Given the description of an element on the screen output the (x, y) to click on. 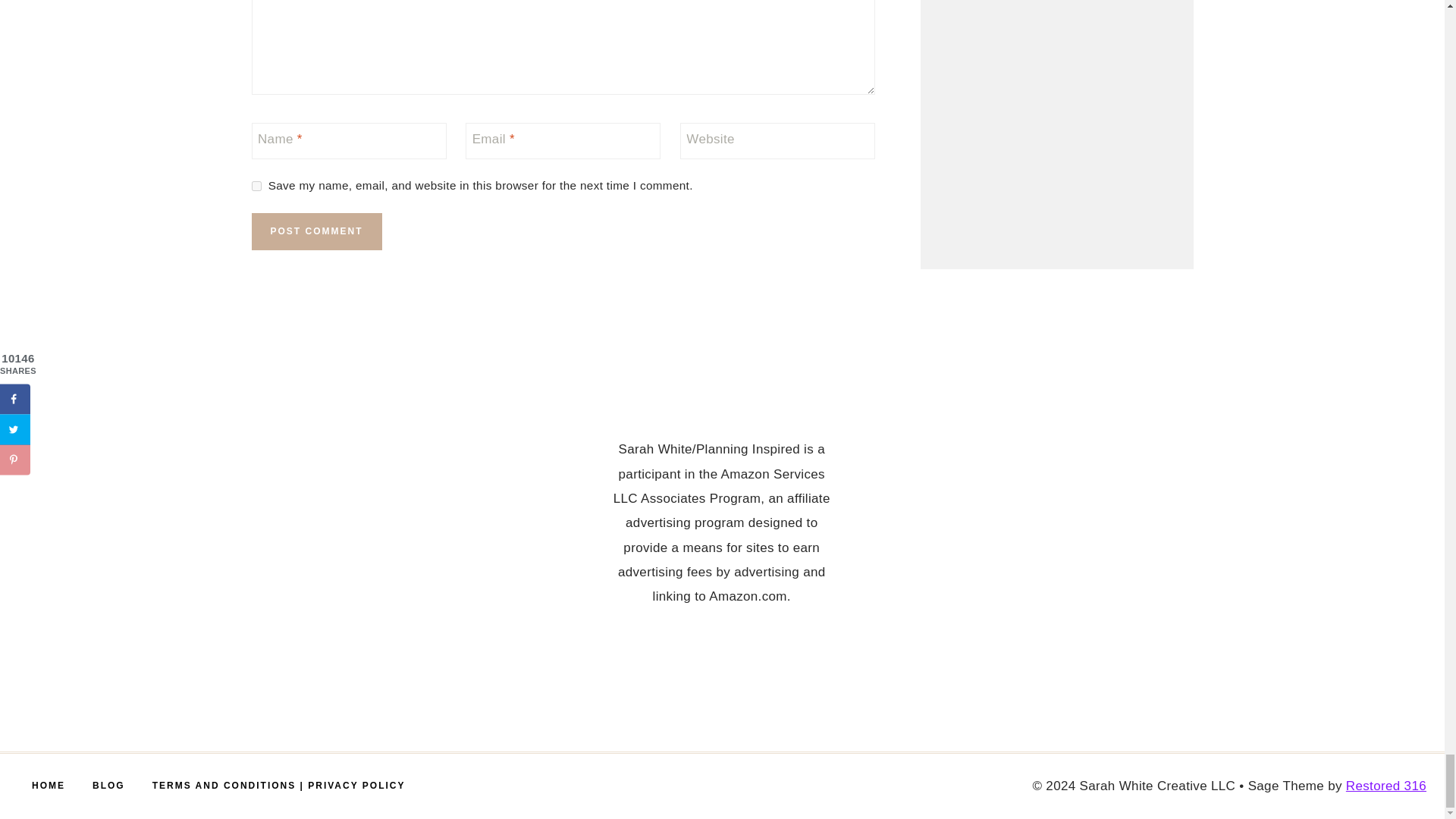
Post Comment (316, 231)
yes (256, 185)
